Given the description of an element on the screen output the (x, y) to click on. 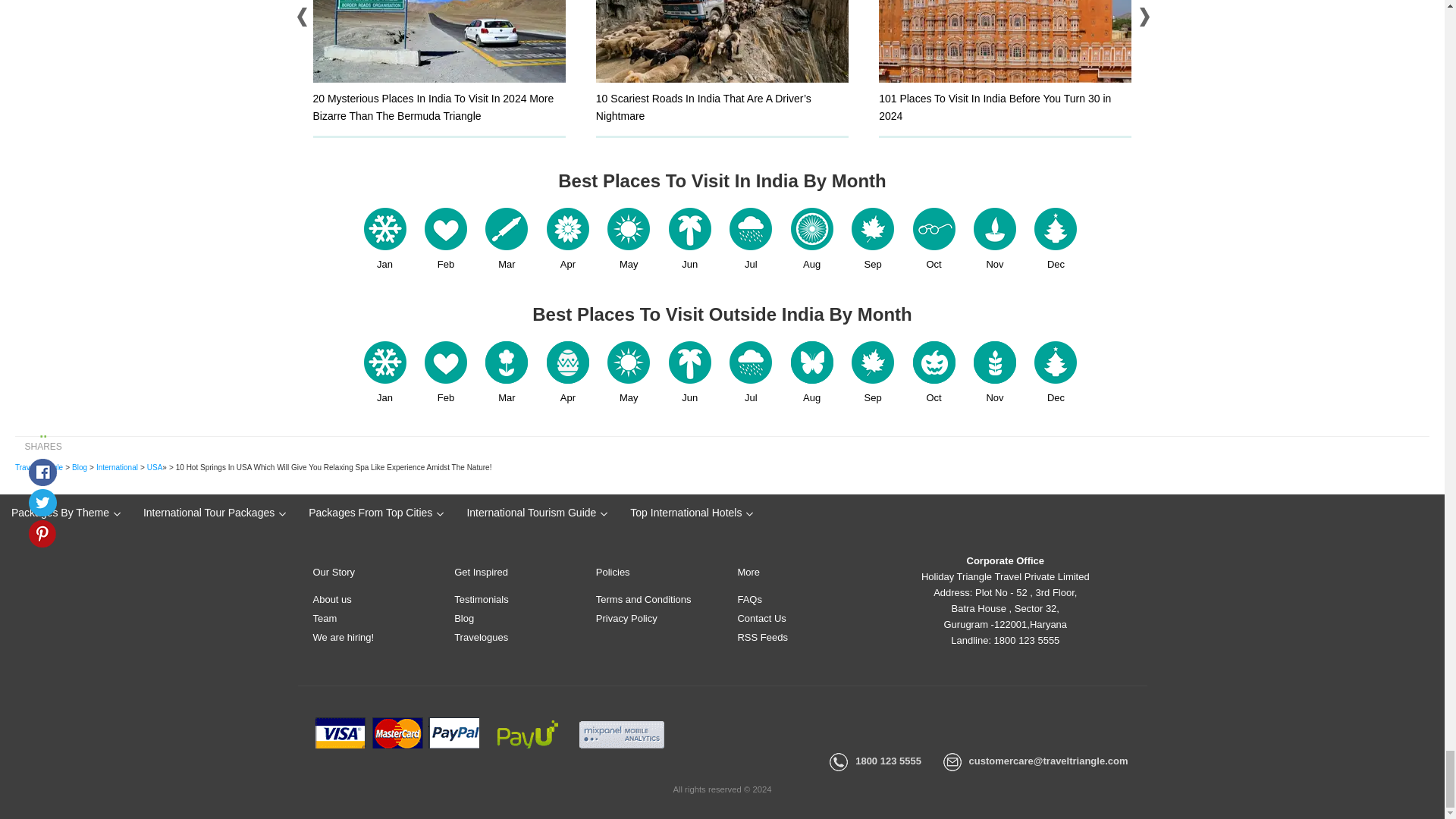
Blog (79, 467)
International (117, 467)
View all posts in USA (155, 467)
TravelTriangle (38, 467)
